Given the description of an element on the screen output the (x, y) to click on. 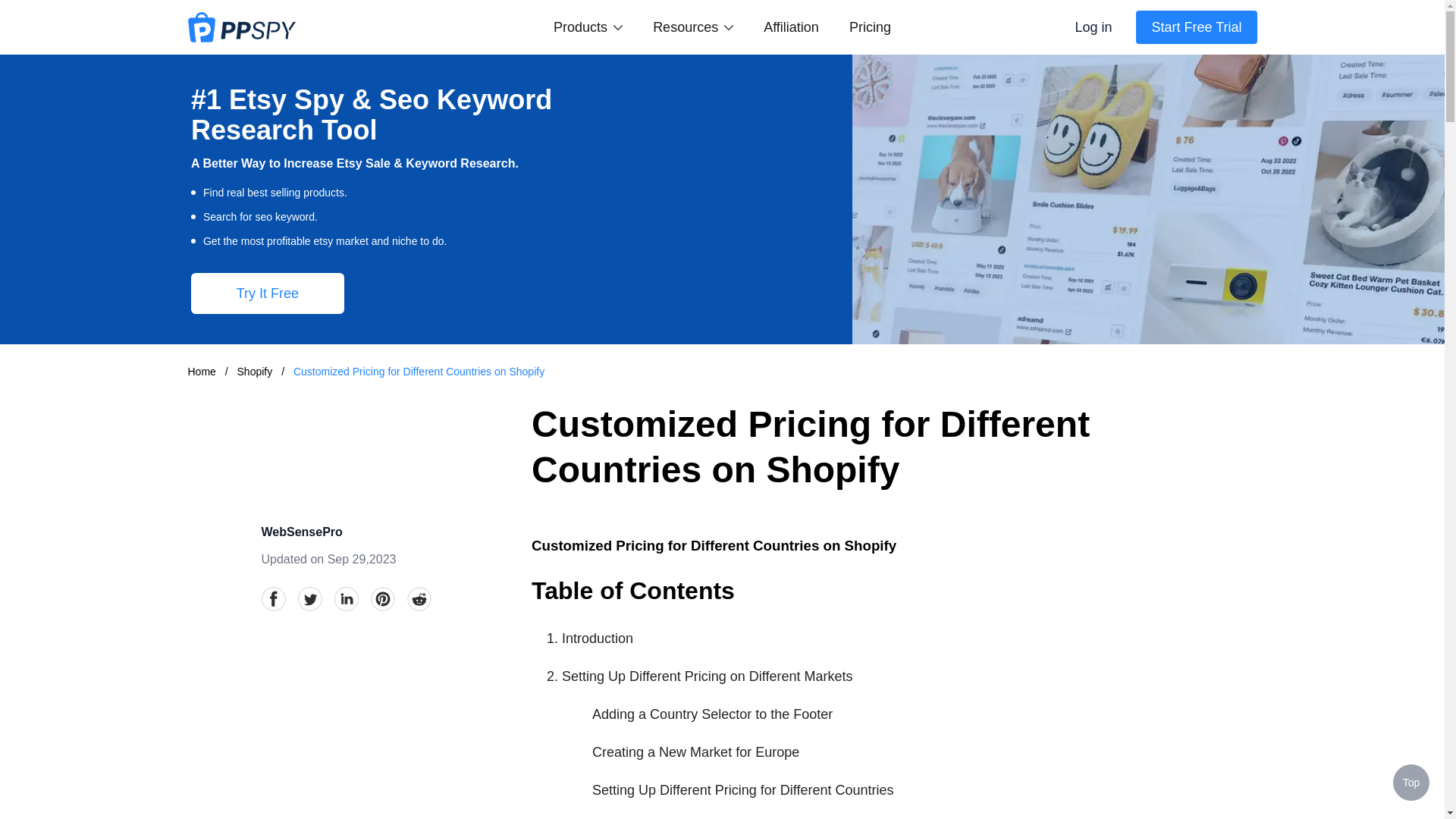
reddit (418, 598)
Affiliation (790, 27)
Home (201, 371)
Try It Free (266, 292)
facebook (272, 598)
WebSensePro (301, 531)
Twitter (309, 598)
Shopify (256, 371)
pinterest (381, 598)
Start Free Trial (1195, 27)
